Given the description of an element on the screen output the (x, y) to click on. 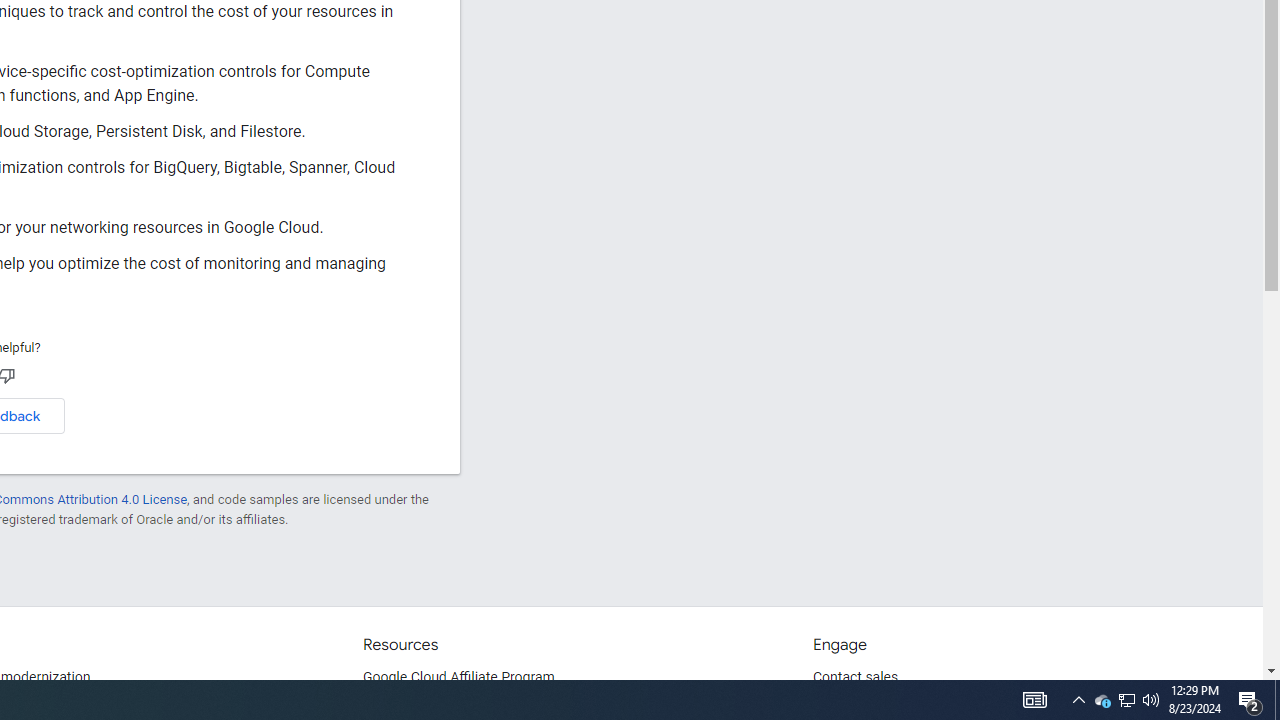
Google Cloud Affiliate Program (459, 677)
Contact sales (855, 677)
